Given the description of an element on the screen output the (x, y) to click on. 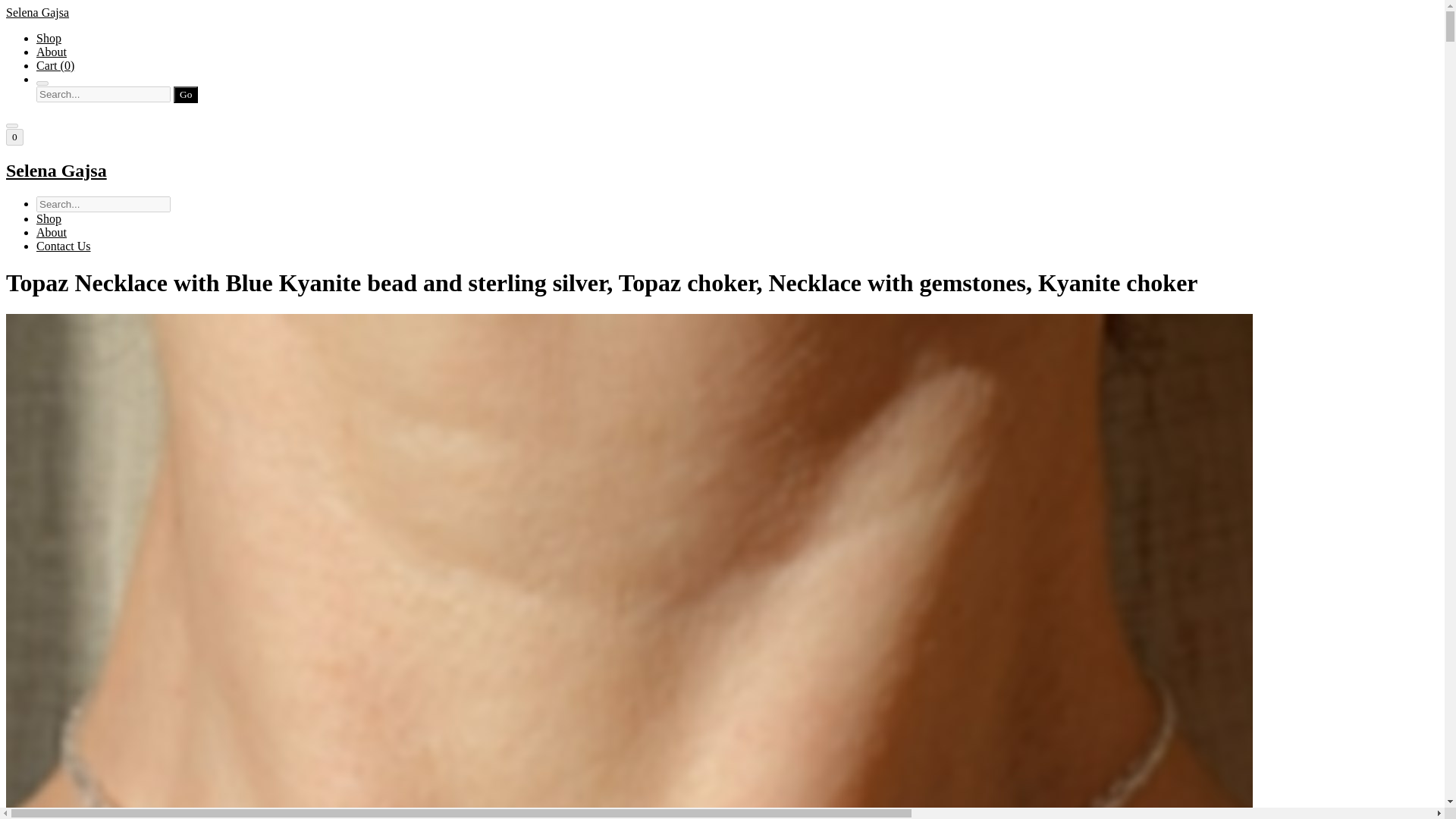
Go (185, 94)
Go (185, 94)
Contact Us (63, 245)
Shop (48, 38)
Selena Gajsa (721, 170)
About (51, 232)
Shop (48, 218)
0 (14, 136)
About (51, 51)
